Given the description of an element on the screen output the (x, y) to click on. 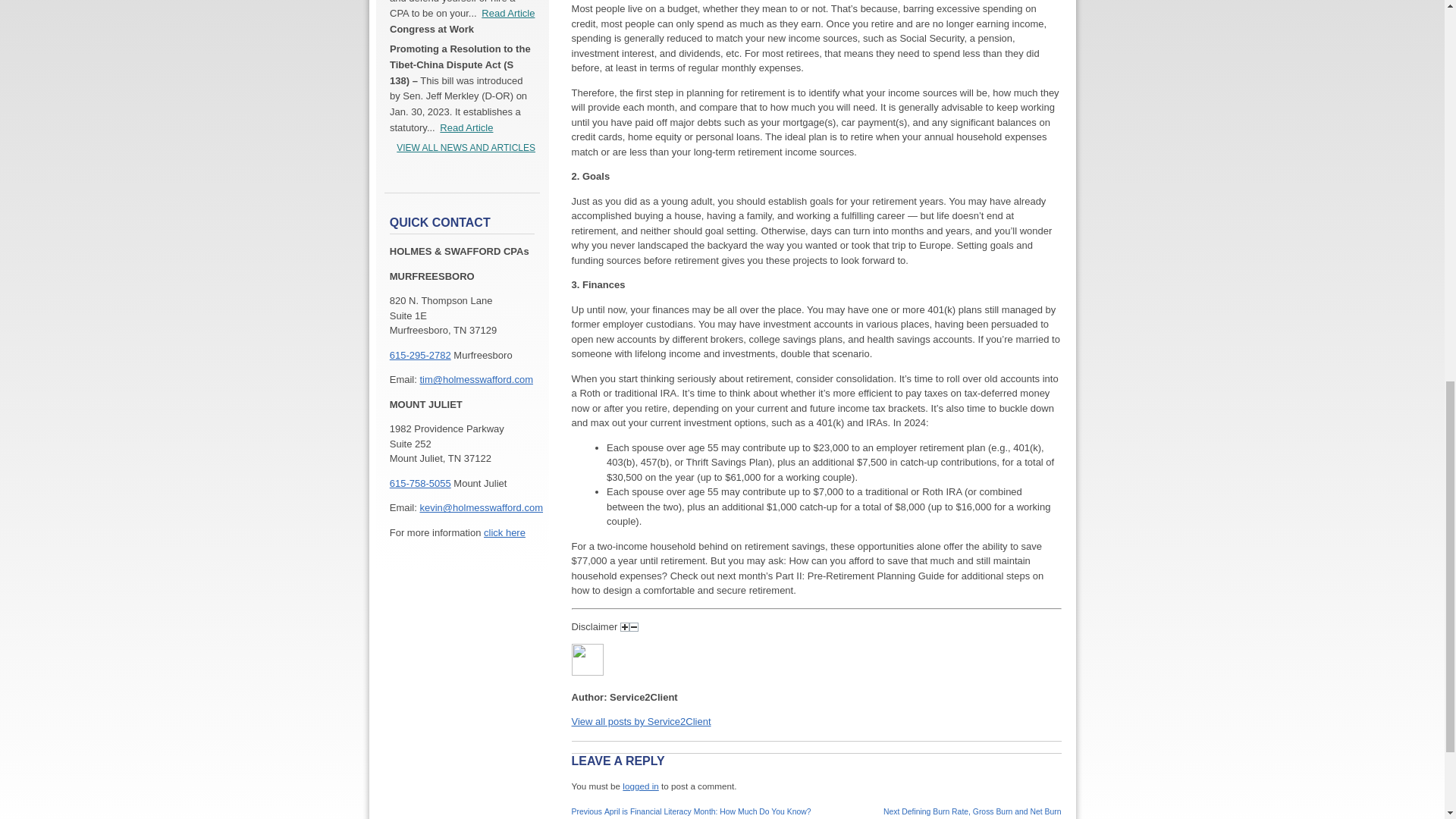
View all posts by Service2Client (641, 721)
logged in (640, 786)
